Given the description of an element on the screen output the (x, y) to click on. 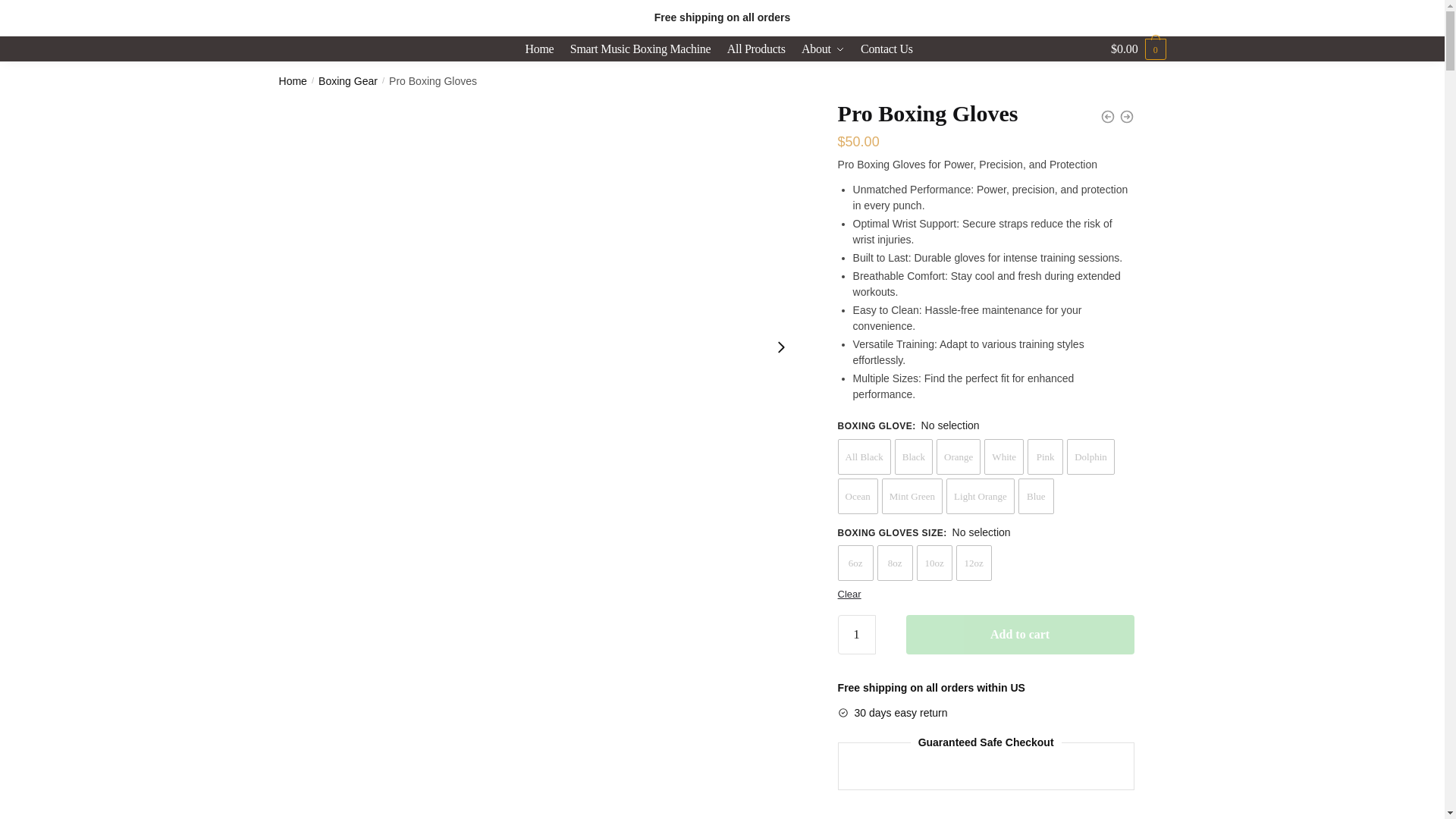
Dolphin (1091, 456)
1 (857, 634)
White (1003, 456)
Pink (1044, 456)
All Products (756, 49)
Smart Music Boxing Machine (640, 49)
All Black (864, 456)
Orange (957, 456)
About (822, 49)
Home (541, 49)
Contact Us (886, 49)
Boxing Gear (347, 80)
Black (914, 456)
Home (293, 80)
